Given the description of an element on the screen output the (x, y) to click on. 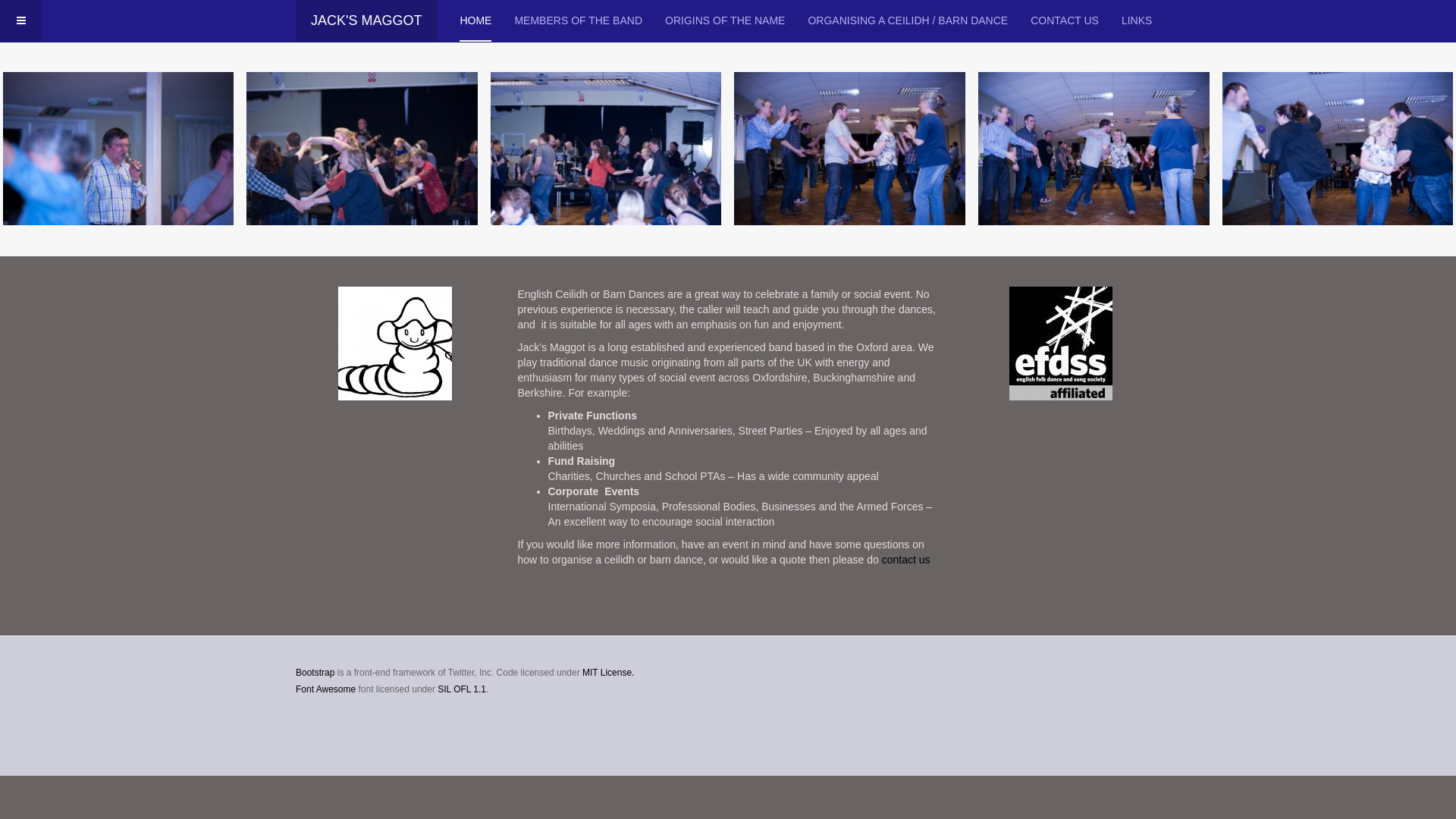
Font Awesome Element type: text (325, 689)
ORGANISING A CEILIDH / BARN DANCE Element type: text (907, 20)
JACK'S MAGGOT Element type: text (365, 20)
SIL OFL 1.1 Element type: text (461, 689)
Bootstrap Element type: text (314, 672)
HOME Element type: text (475, 20)
MIT License. Element type: text (607, 672)
LINKS Element type: text (1136, 20)
MEMBERS OF THE BAND Element type: text (578, 20)
contact us Element type: text (905, 559)
CONTACT US Element type: text (1064, 20)
ORIGINS OF THE NAME Element type: text (724, 20)
